Given the description of an element on the screen output the (x, y) to click on. 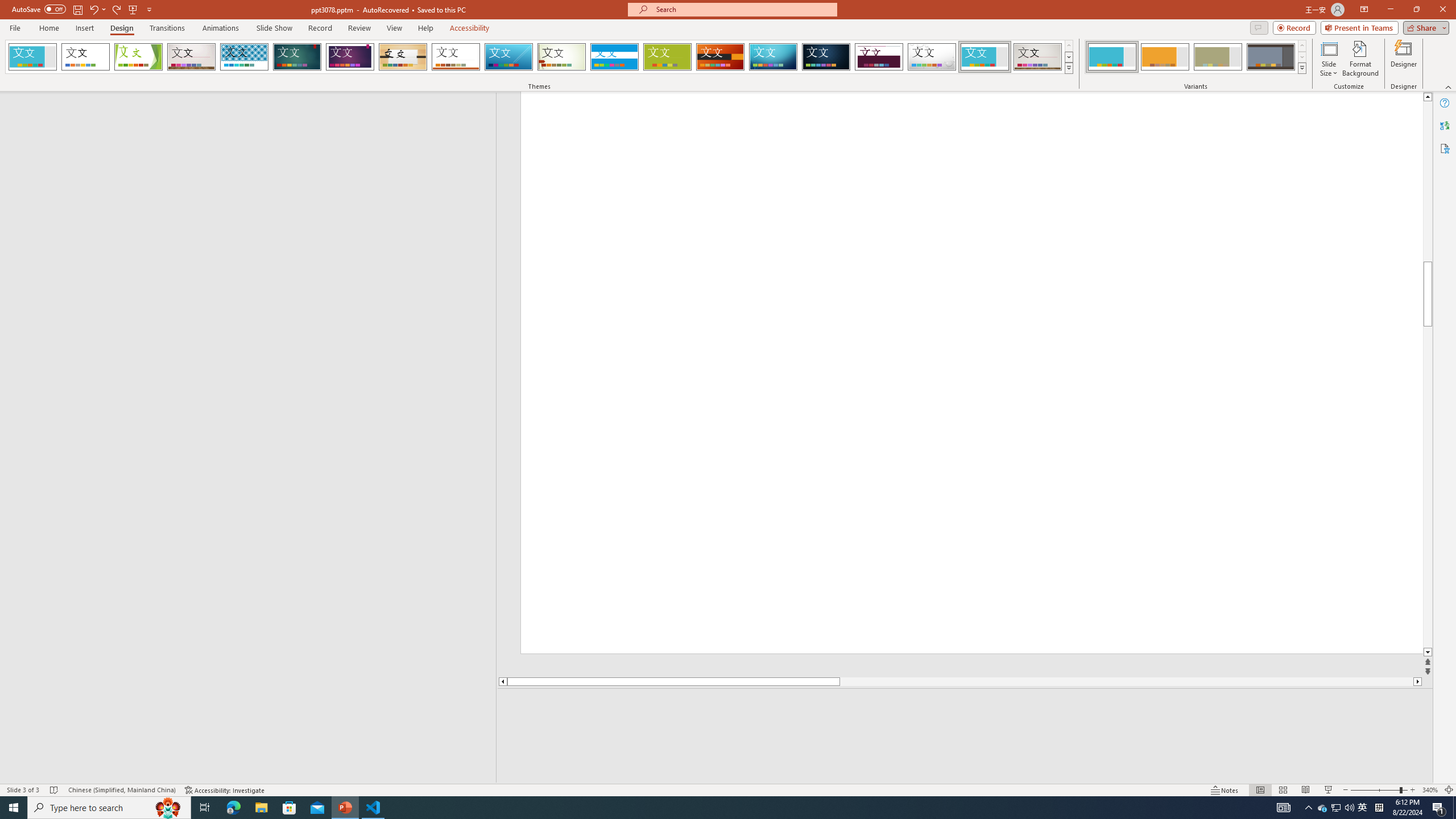
Ion (296, 56)
Slide Size (1328, 58)
TextBox 7 (1417, 163)
AutomationID: SlideThemesGallery (539, 56)
